Given the description of an element on the screen output the (x, y) to click on. 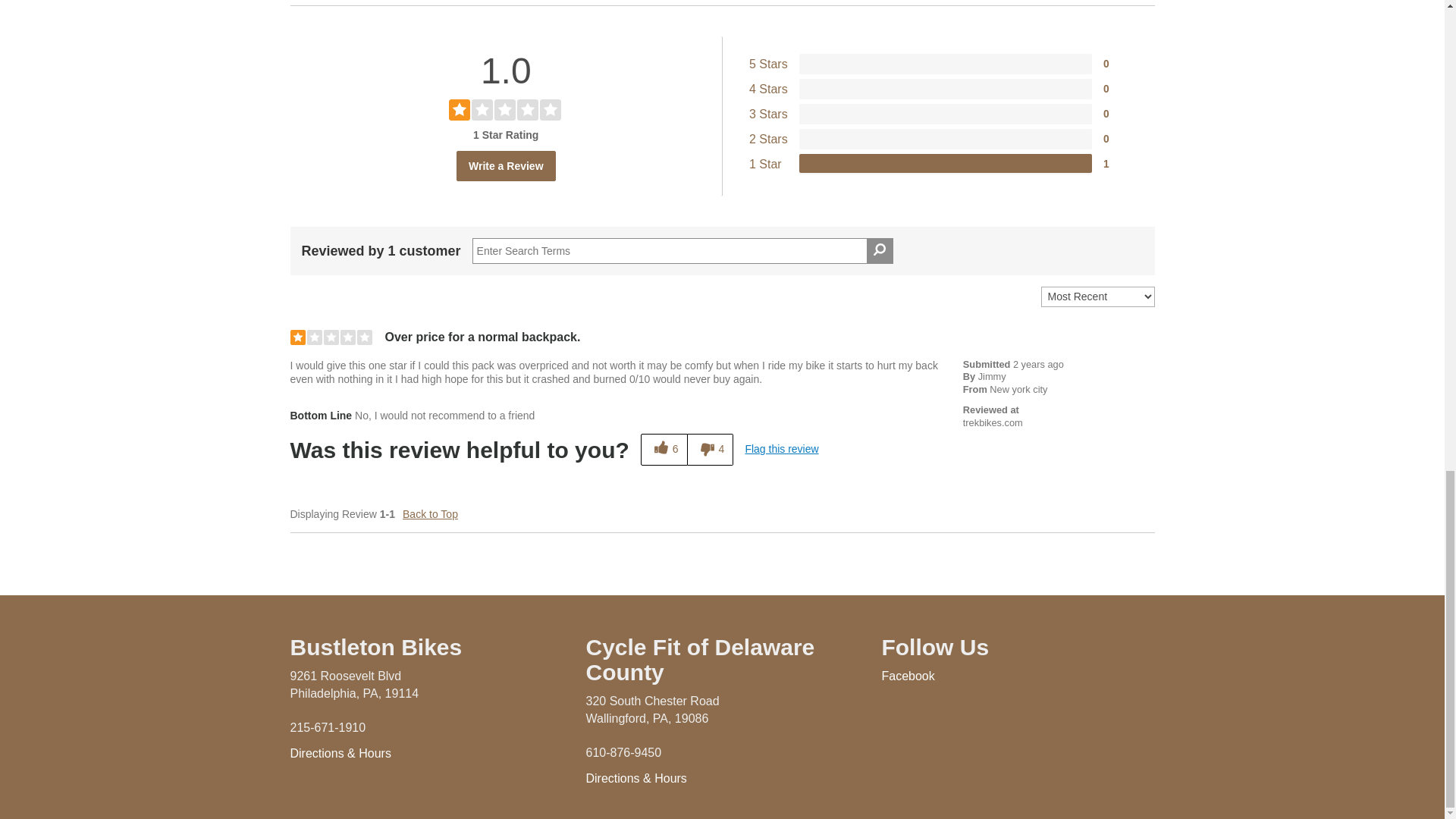
Trek US (992, 422)
